Given the description of an element on the screen output the (x, y) to click on. 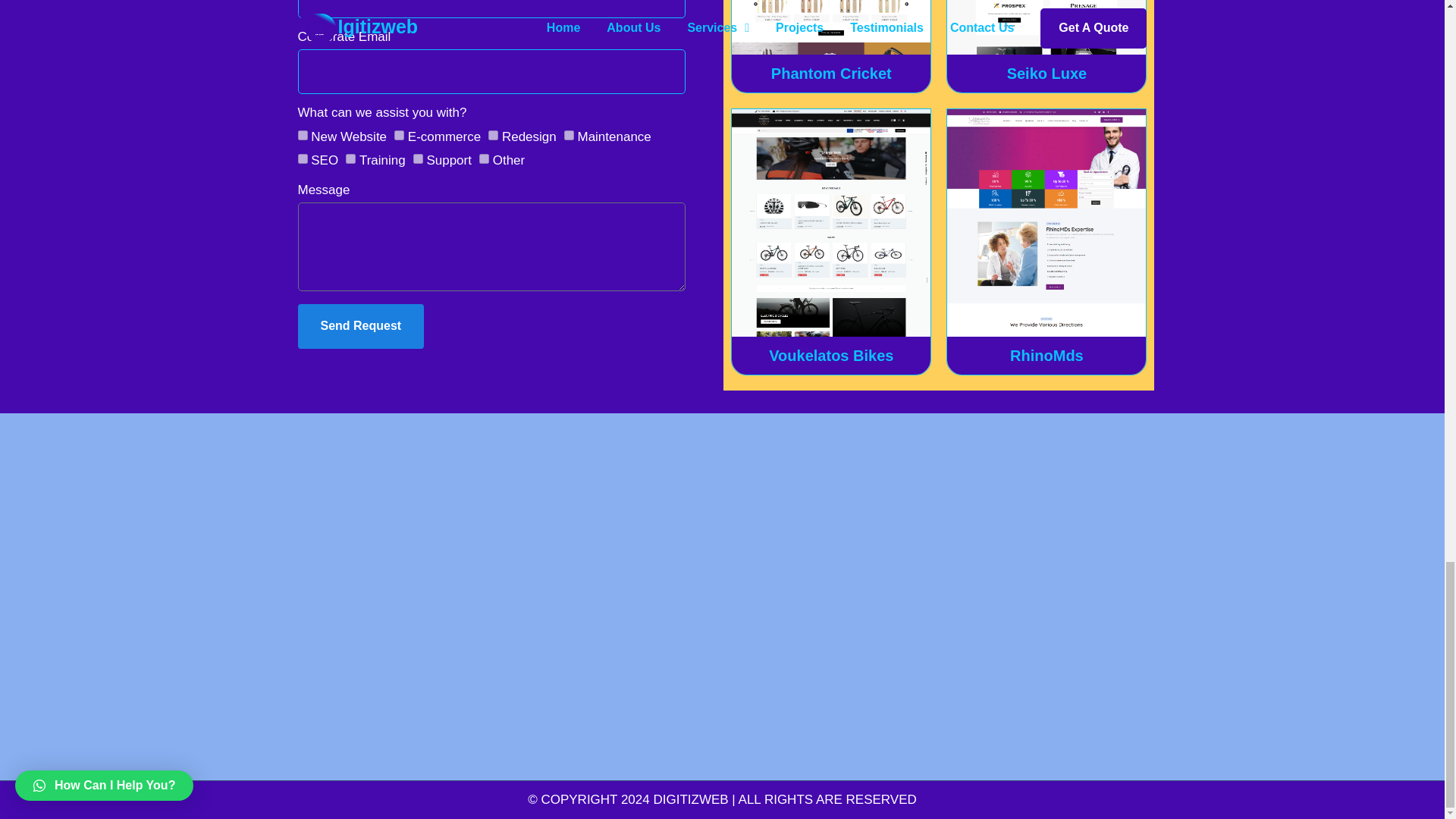
Support (418, 157)
Redesign (492, 135)
Training (350, 157)
E-commerce (399, 135)
Other (484, 157)
SEO (302, 157)
Maintenance (568, 135)
New Website (302, 135)
